Given the description of an element on the screen output the (x, y) to click on. 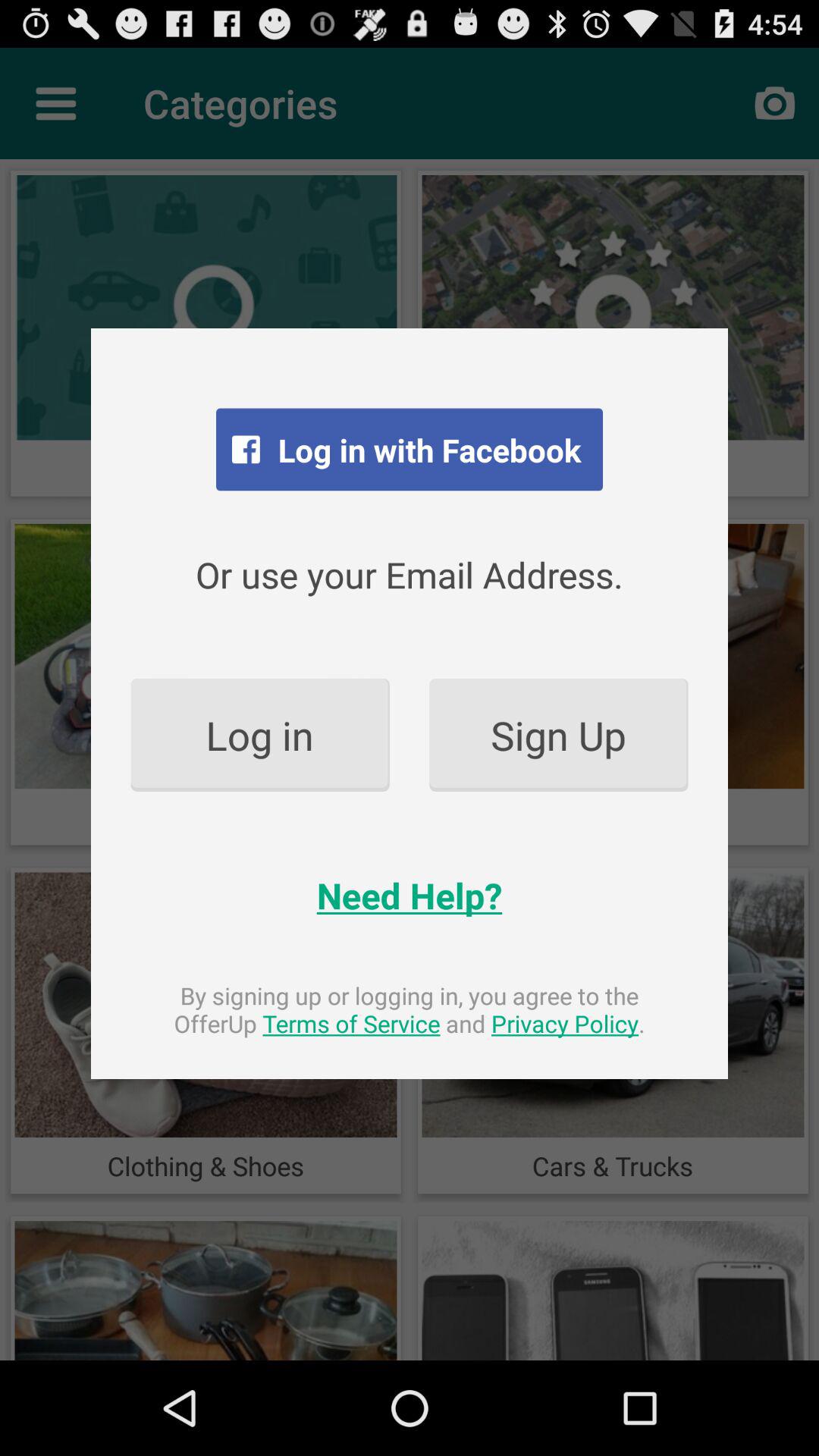
click icon above need help? icon (558, 734)
